Given the description of an element on the screen output the (x, y) to click on. 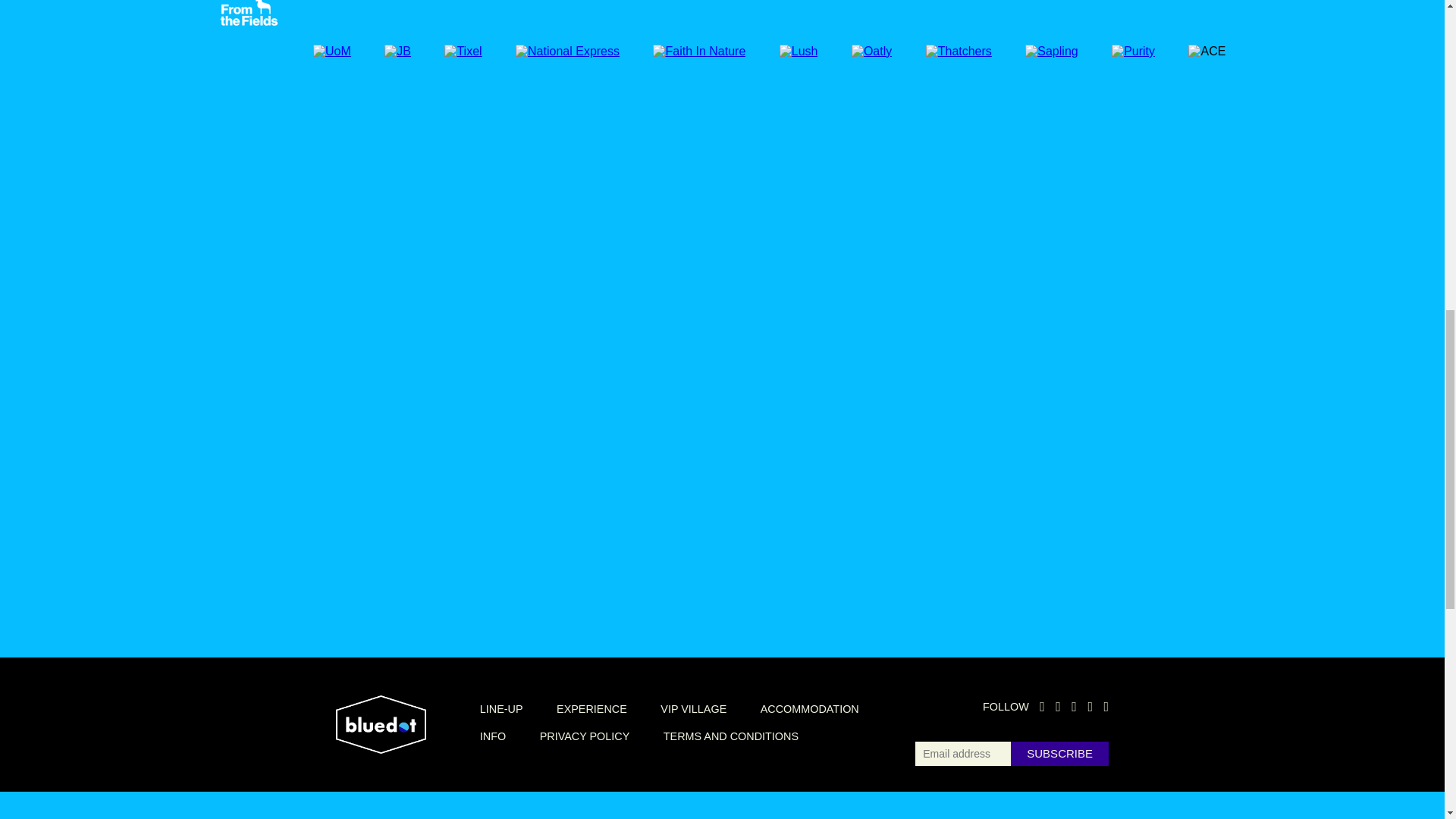
TERMS AND CONDITIONS (730, 736)
ACCOMMODATION (809, 708)
SUBSCRIBE (1059, 753)
LINE-UP (501, 708)
EXPERIENCE (591, 708)
VIP VILLAGE (693, 708)
PRIVACY POLICY (585, 736)
INFO (492, 736)
